Given the description of an element on the screen output the (x, y) to click on. 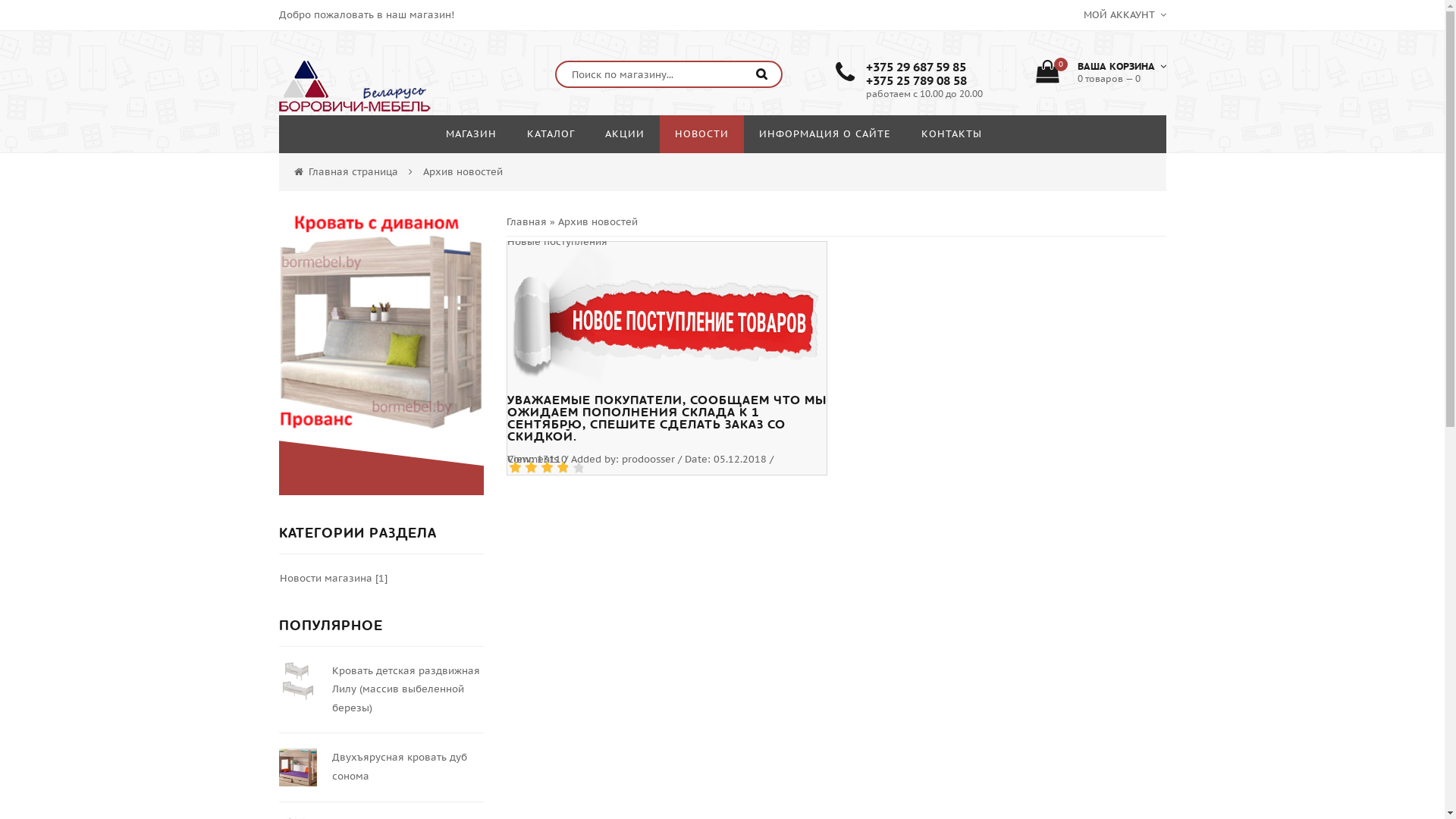
3 Element type: text (544, 466)
2 Element type: text (529, 466)
0 Element type: text (564, 458)
5 Element type: text (575, 466)
1 Element type: text (514, 466)
4 Element type: text (559, 466)
prodoosser Element type: text (647, 458)
